Given the description of an element on the screen output the (x, y) to click on. 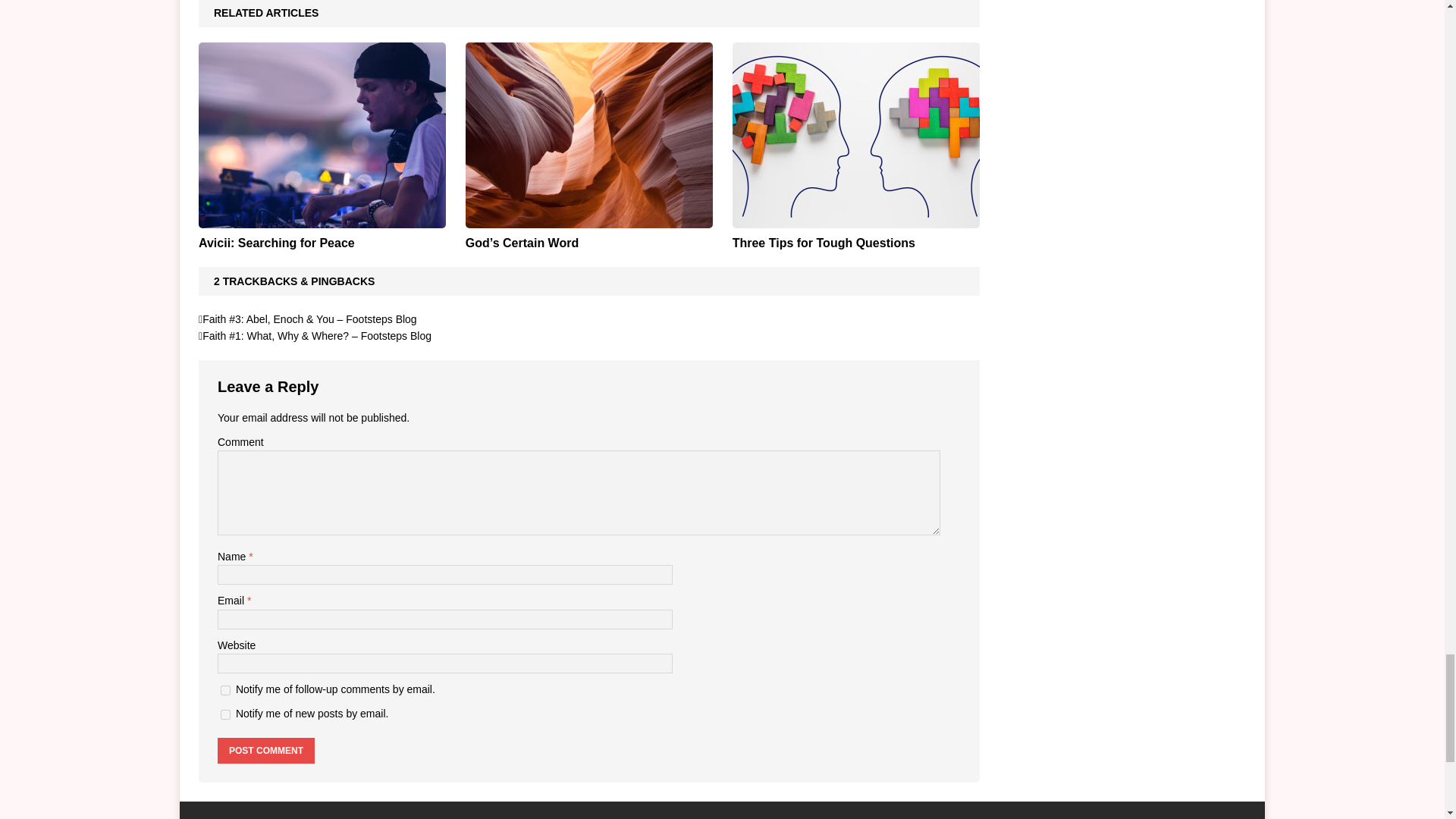
subscribe (225, 690)
Avicii: Searching for Peace (321, 219)
Avicii: Searching for Peace (276, 242)
Post Comment (265, 750)
subscribe (225, 714)
